Given the description of an element on the screen output the (x, y) to click on. 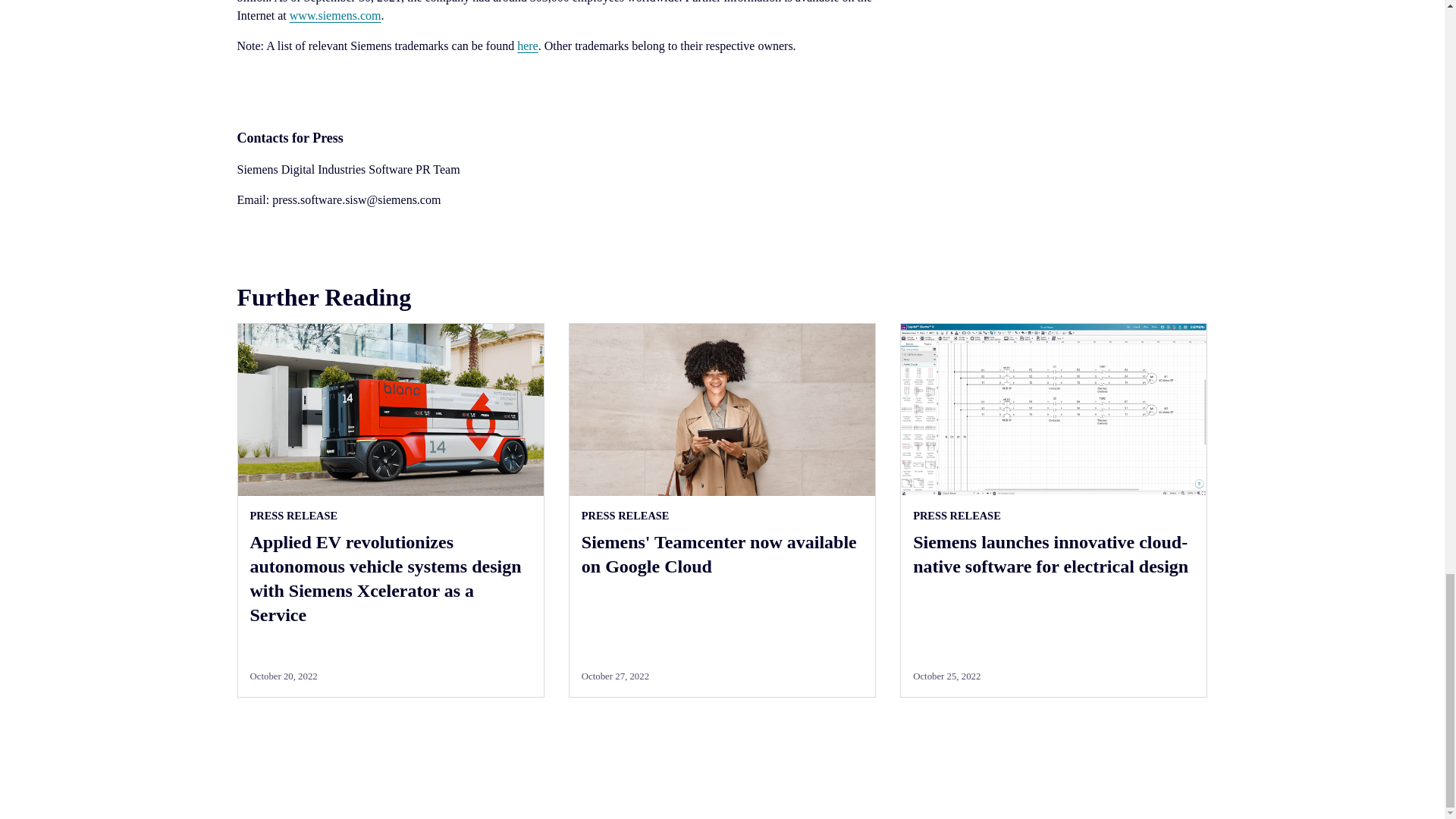
www.siemens.com (335, 15)
here (527, 45)
